Given the description of an element on the screen output the (x, y) to click on. 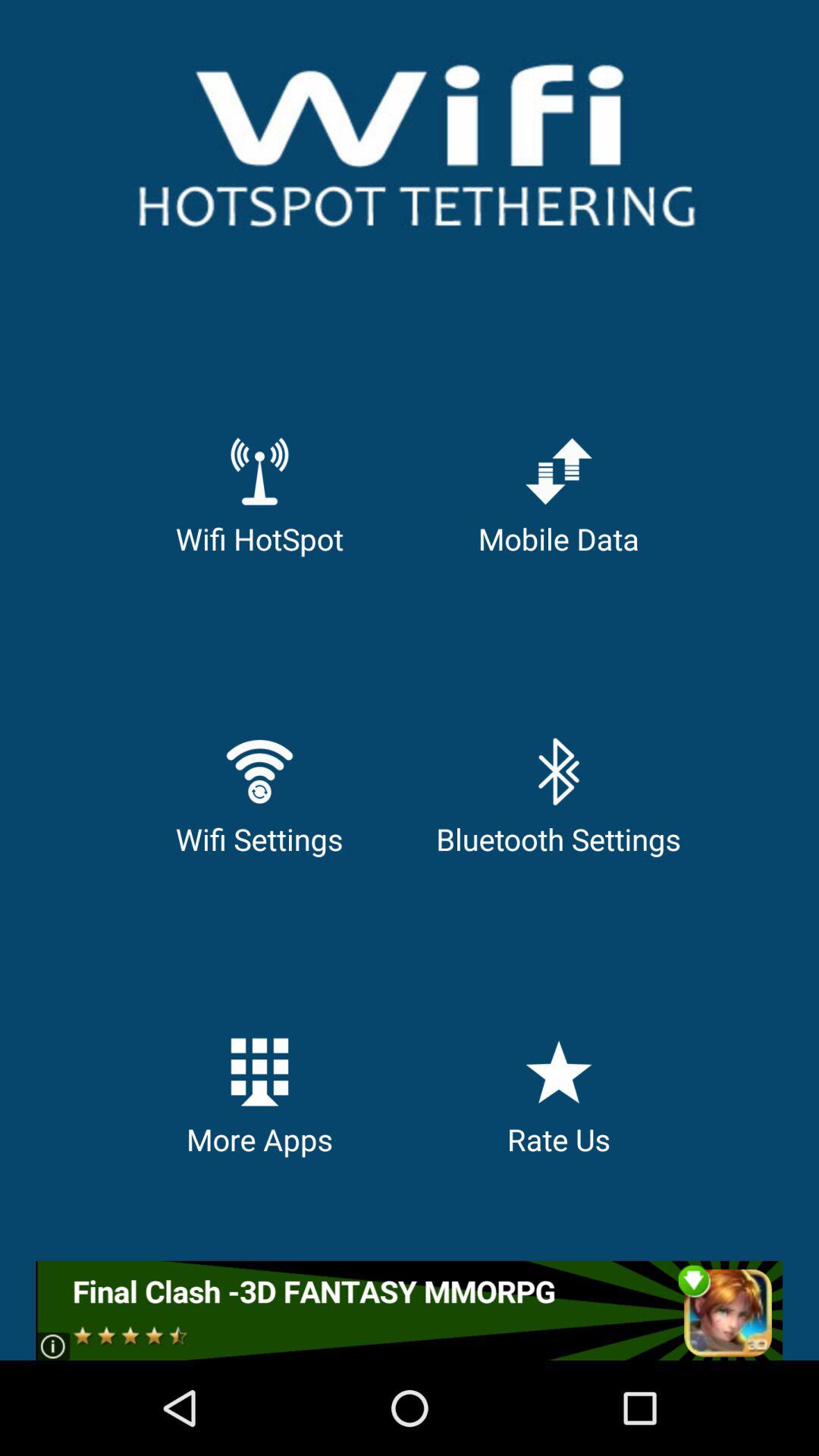
go to advertisement (408, 1310)
